Given the description of an element on the screen output the (x, y) to click on. 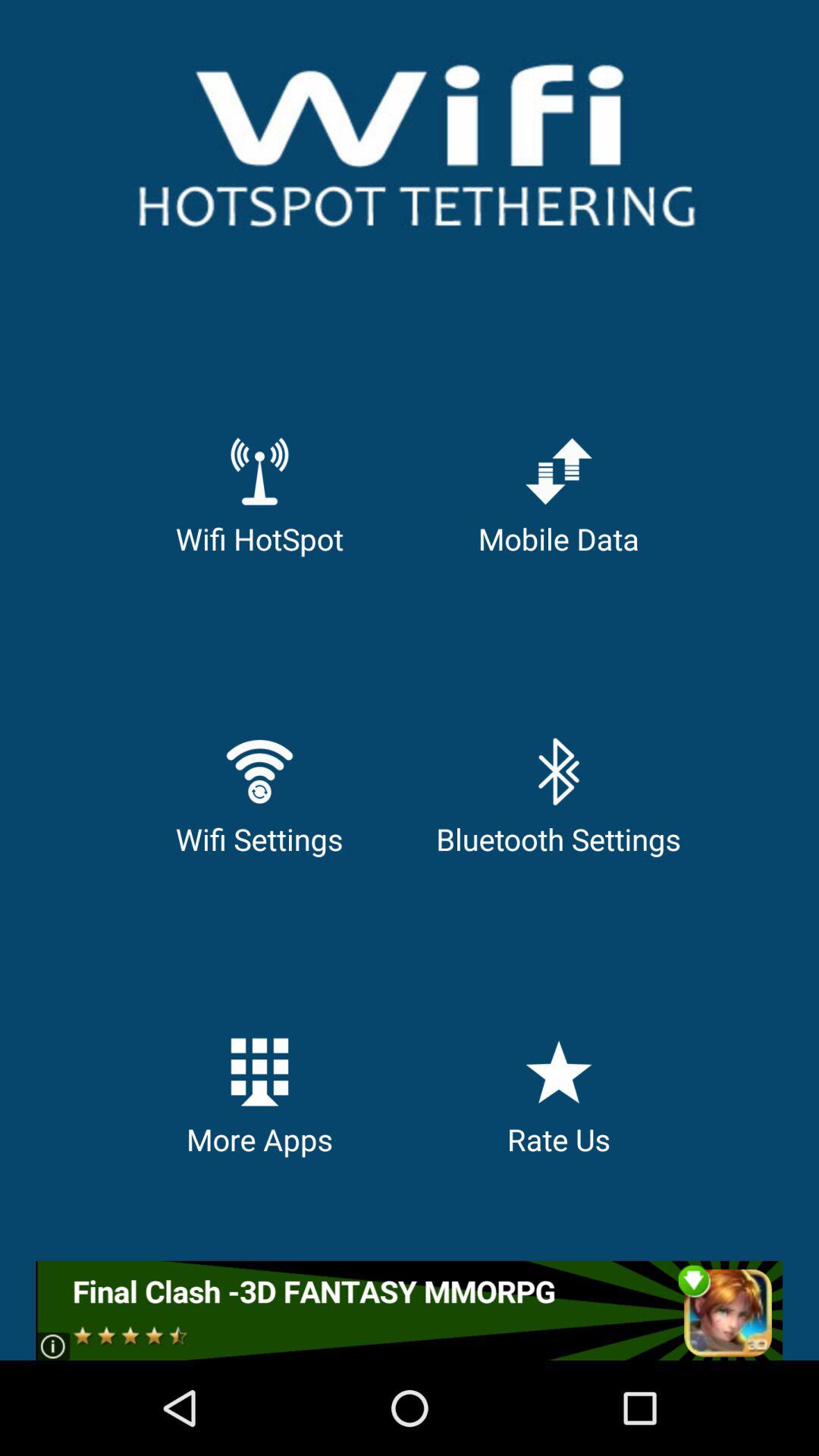
go to advertisement (408, 1310)
